Given the description of an element on the screen output the (x, y) to click on. 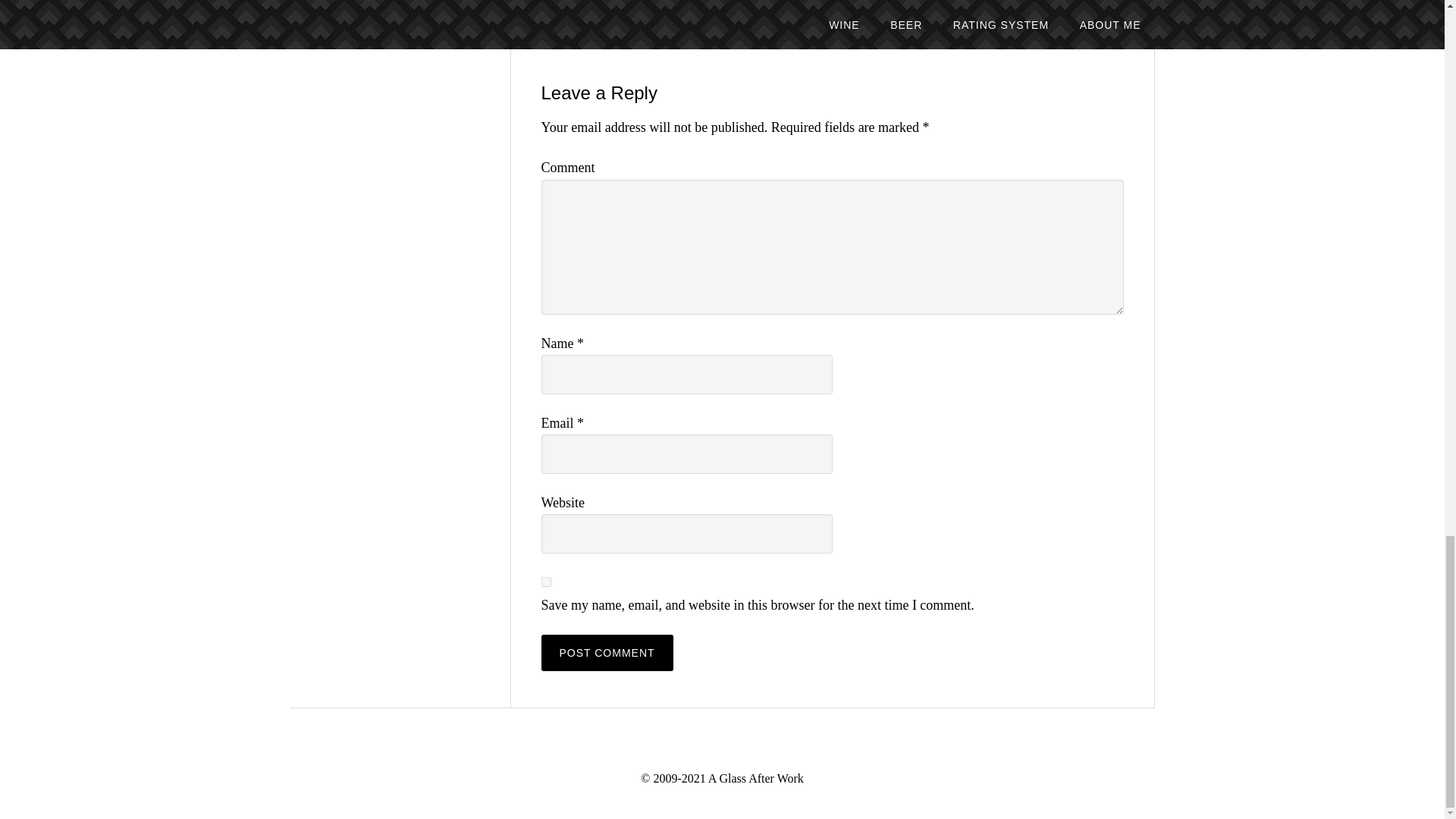
Post Comment (606, 652)
yes (546, 582)
